Given the description of an element on the screen output the (x, y) to click on. 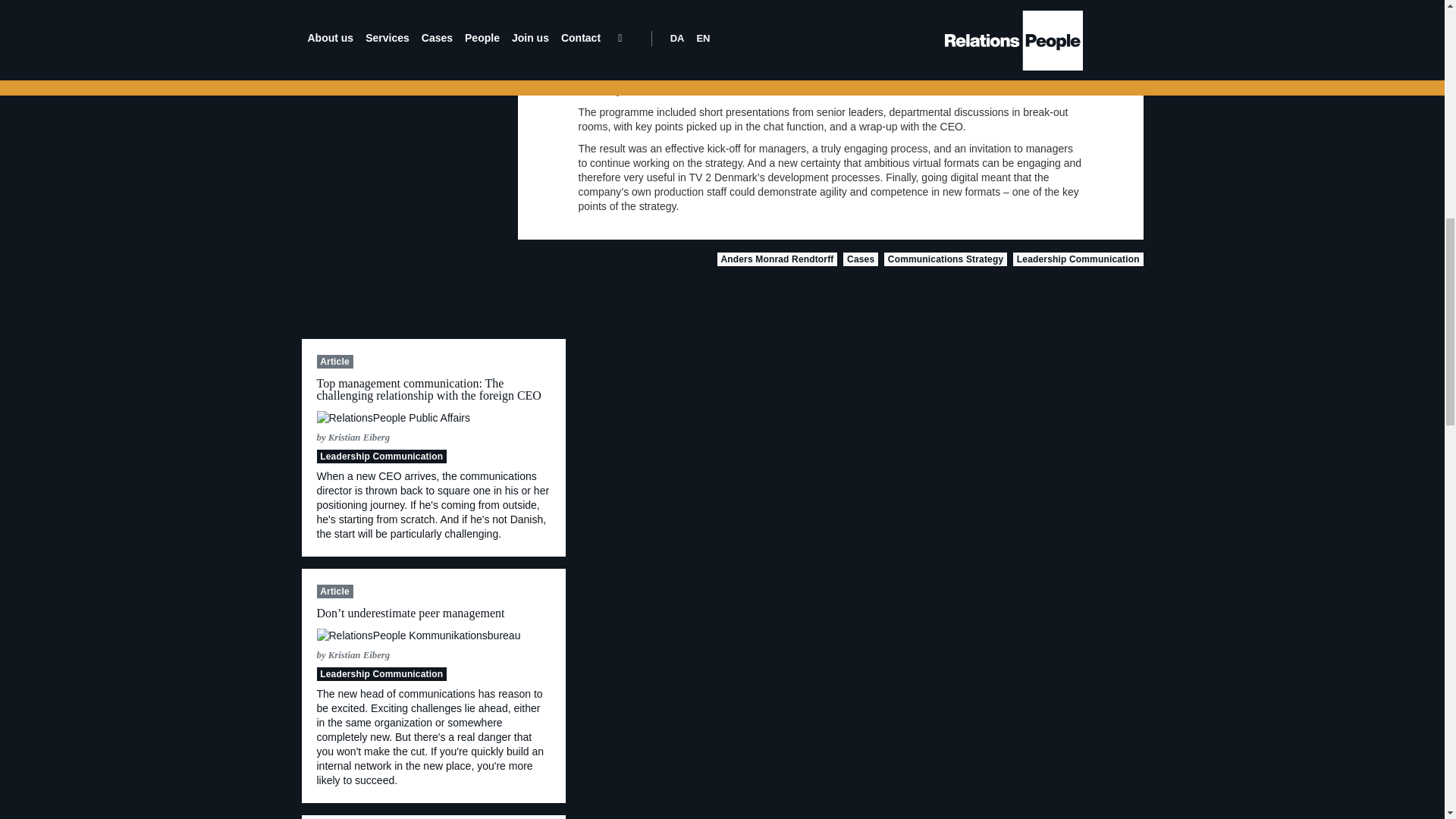
photo-1523875194681-bedd468c58bf (393, 418)
Toplederkom (419, 635)
Communications Strategy (945, 259)
Cases (860, 259)
Anders Monrad Rendtorff (777, 259)
Leadership Communication (1077, 259)
